Given the description of an element on the screen output the (x, y) to click on. 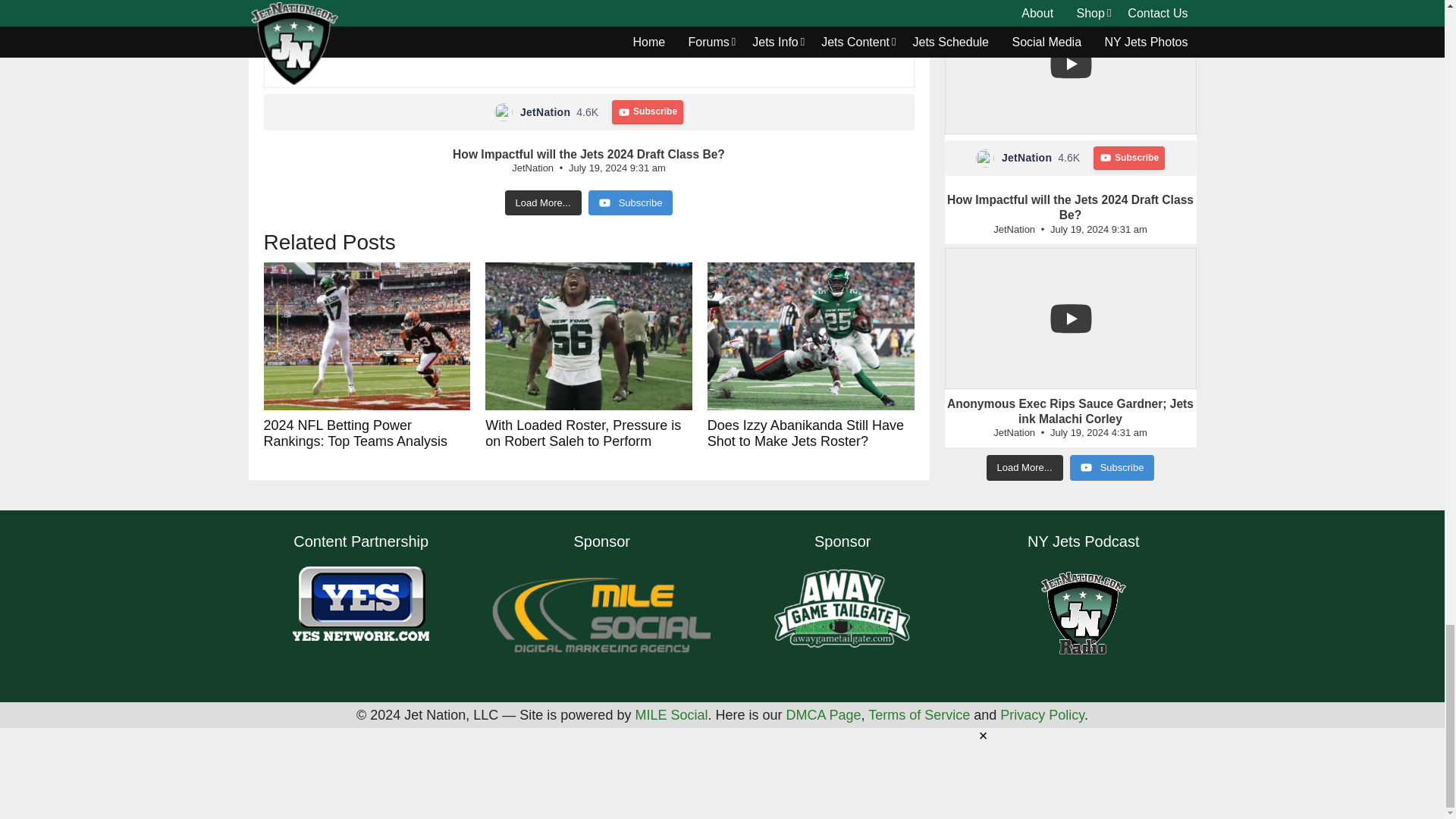
2024 NFL Betting Power Rankings: Top Teams Analysis (366, 336)
Does Izzy Abanikanda Still Have Shot to Make Jets Roster? (810, 336)
With Loaded Roster, Pressure is on Robert Saleh to Perform (588, 336)
